Given the description of an element on the screen output the (x, y) to click on. 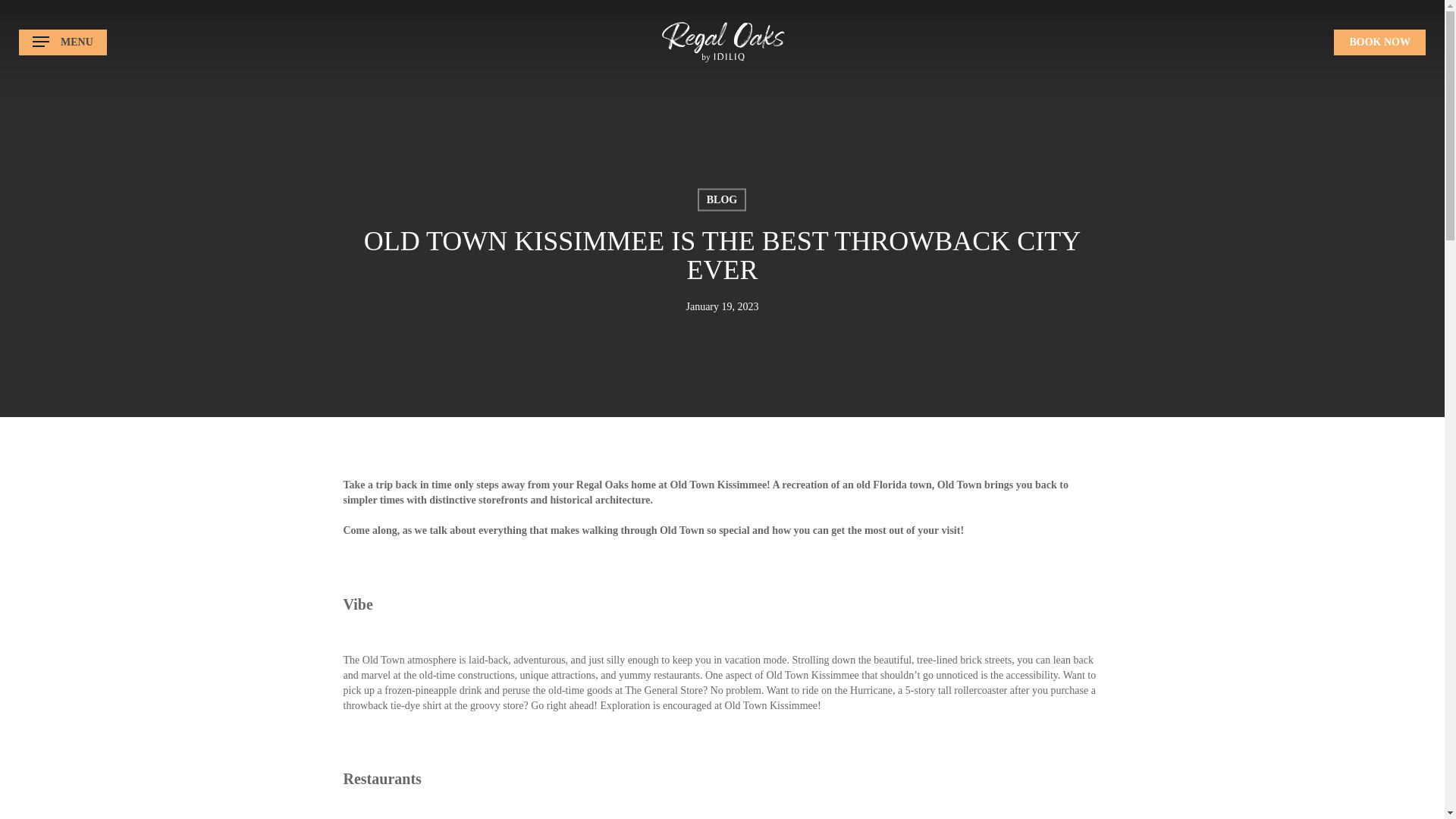
BOOK NOW (1379, 41)
MENU (62, 41)
BLOG (721, 199)
